Given the description of an element on the screen output the (x, y) to click on. 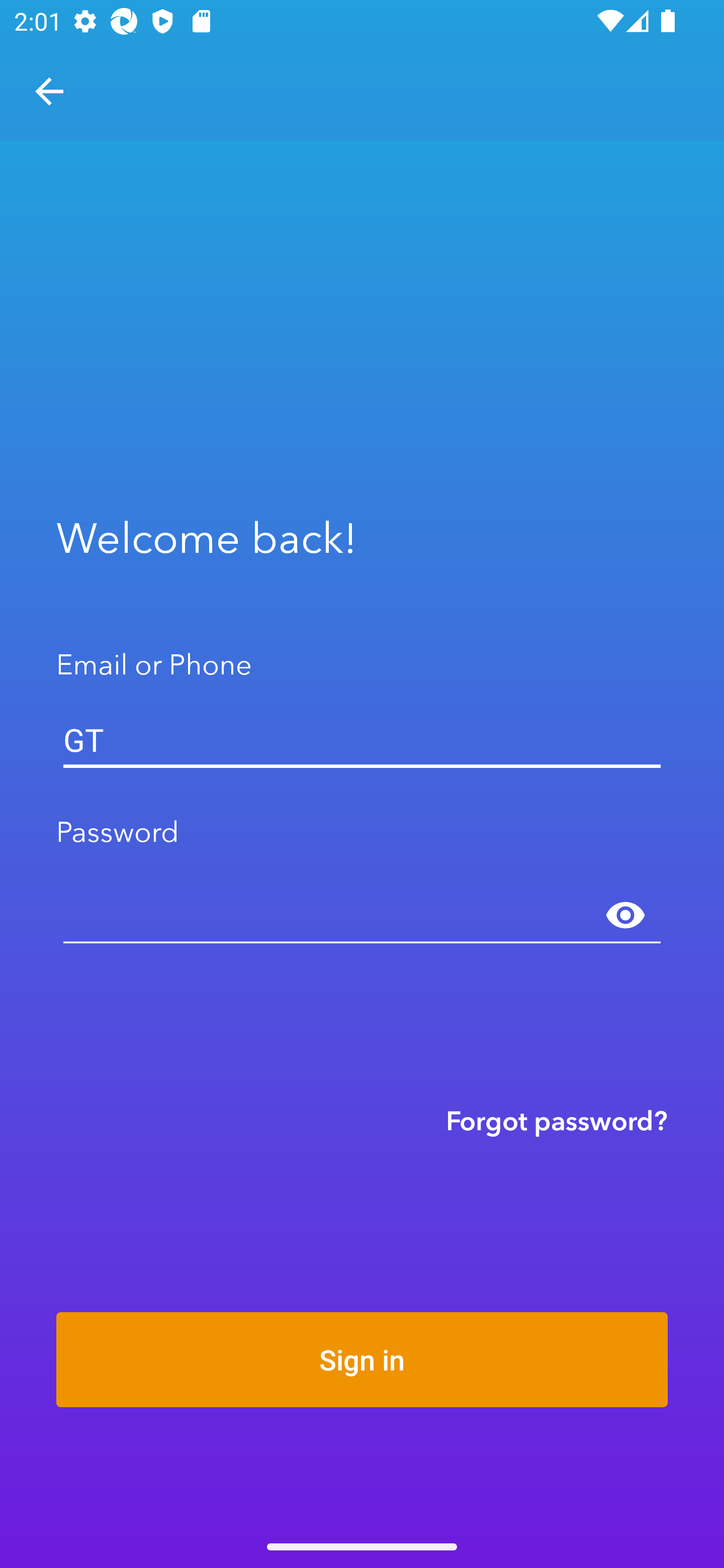
Navigate up (49, 91)
GT (361, 739)
Show password (625, 915)
Forgot password? (556, 1119)
Sign in (361, 1359)
